Given the description of an element on the screen output the (x, y) to click on. 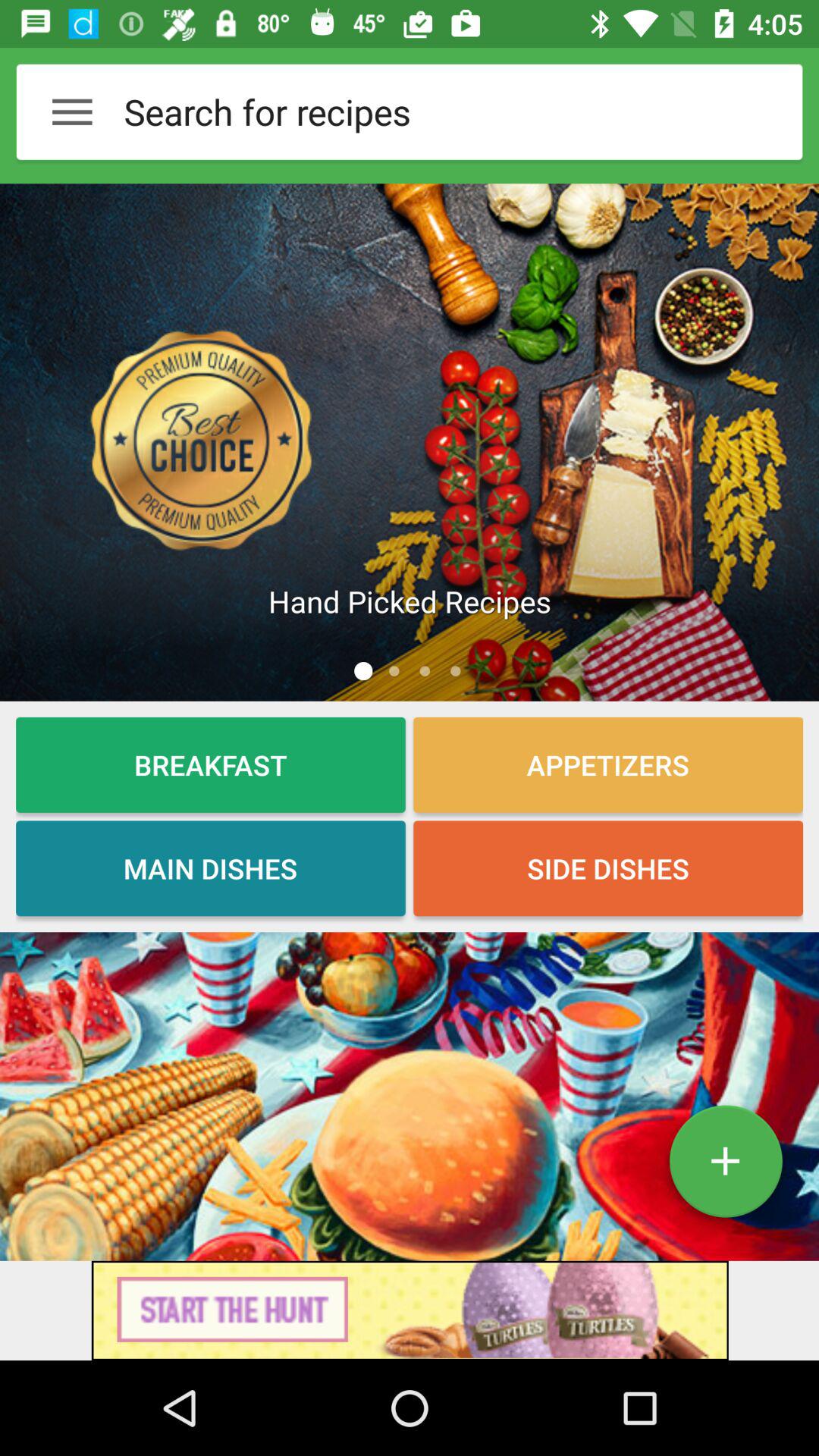
connect to advertisement (409, 1310)
